Given the description of an element on the screen output the (x, y) to click on. 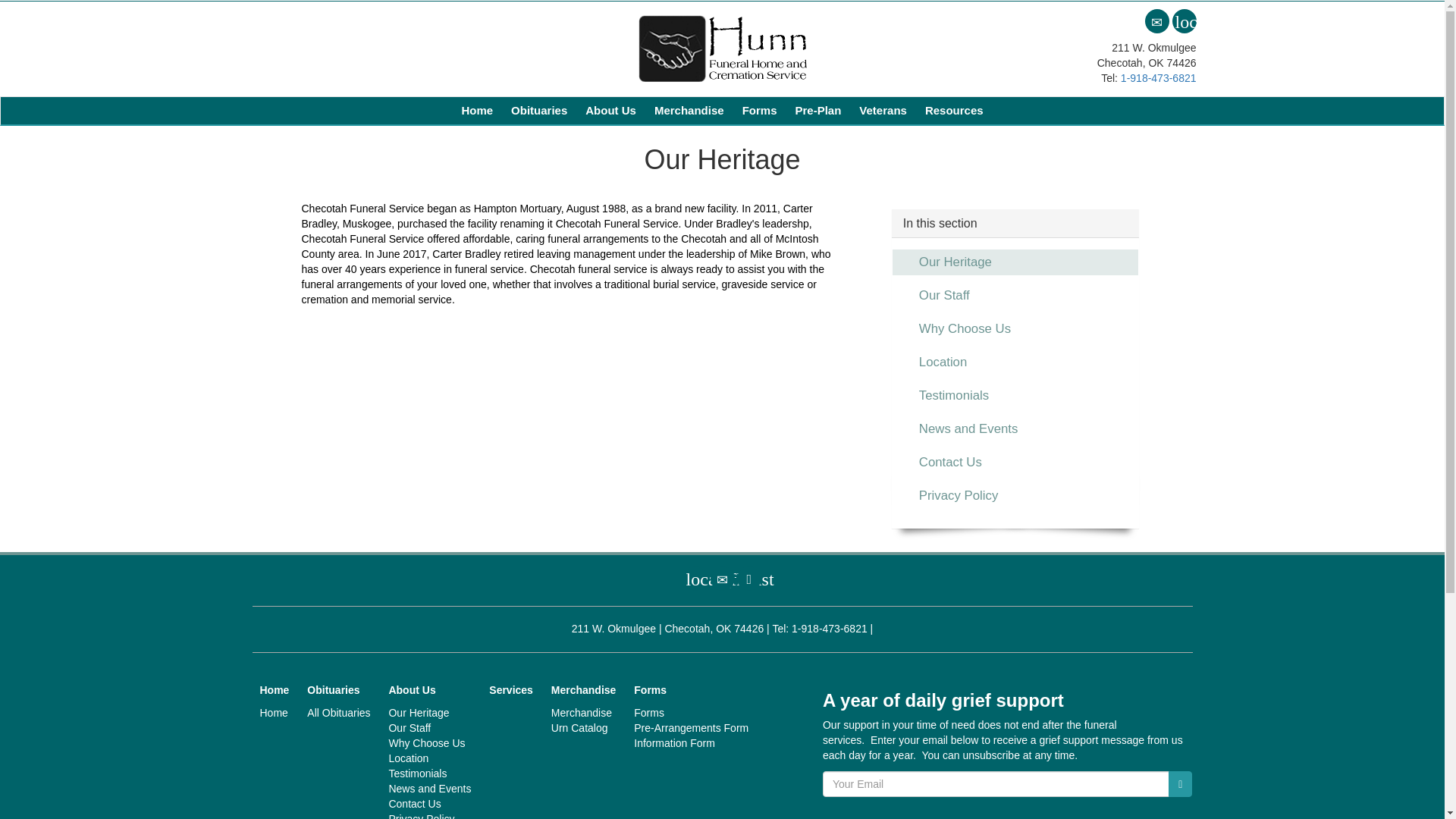
Pre-Plan (818, 110)
Contact Us (721, 578)
Merchandise (689, 110)
Contact Us (1156, 21)
Home (476, 110)
Obituaries (539, 110)
Send Flowers (694, 578)
About Us (610, 110)
Directions (748, 578)
Veterans (882, 110)
